Given the description of an element on the screen output the (x, y) to click on. 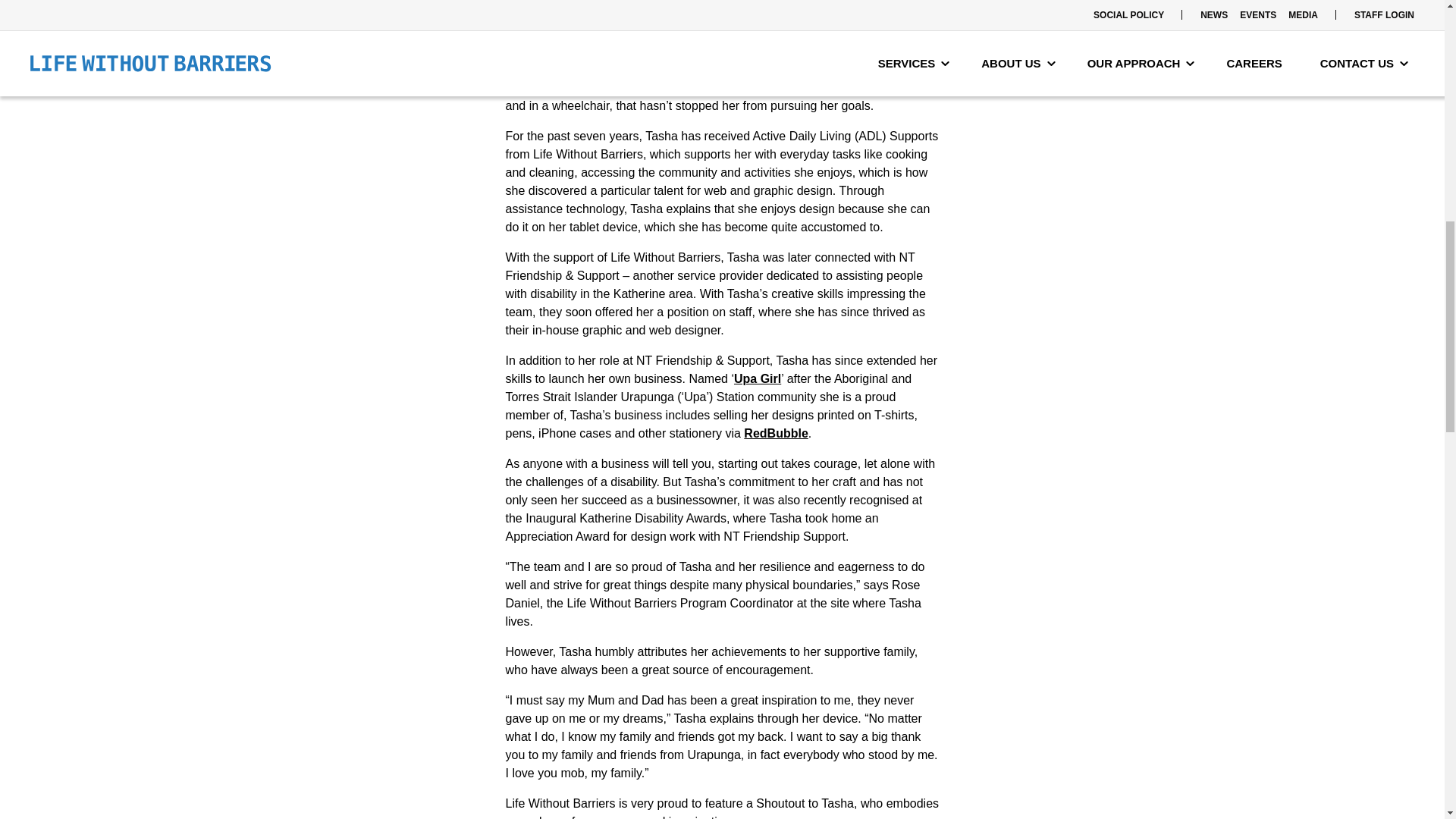
RedBubble (776, 432)
Upa Girl (756, 378)
